Given the description of an element on the screen output the (x, y) to click on. 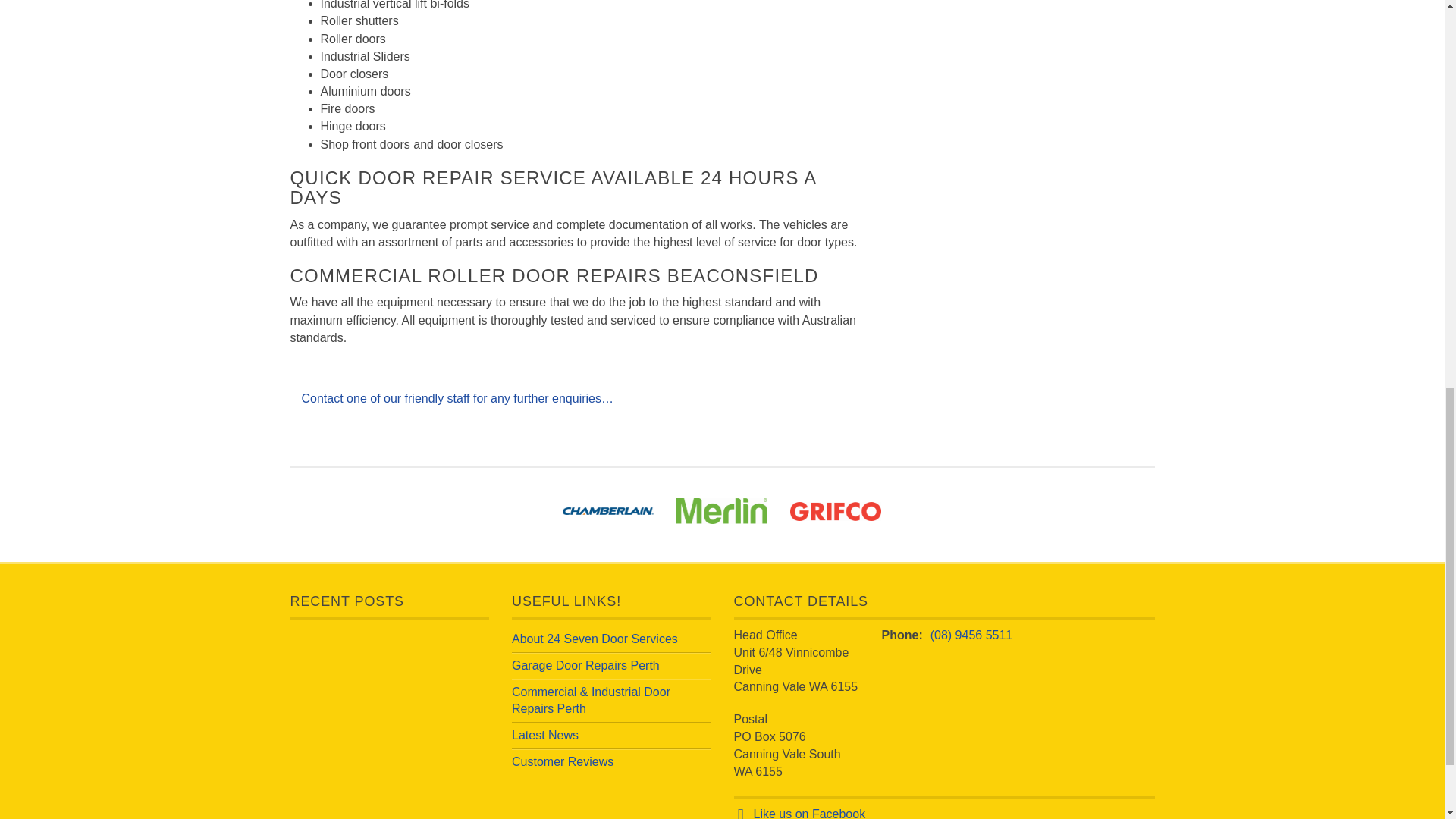
About 24 Seven Door Services (595, 638)
Like us on Facebook (810, 813)
Latest News (545, 735)
Garage Door Repairs Perth (585, 665)
Customer Reviews (562, 761)
